Given the description of an element on the screen output the (x, y) to click on. 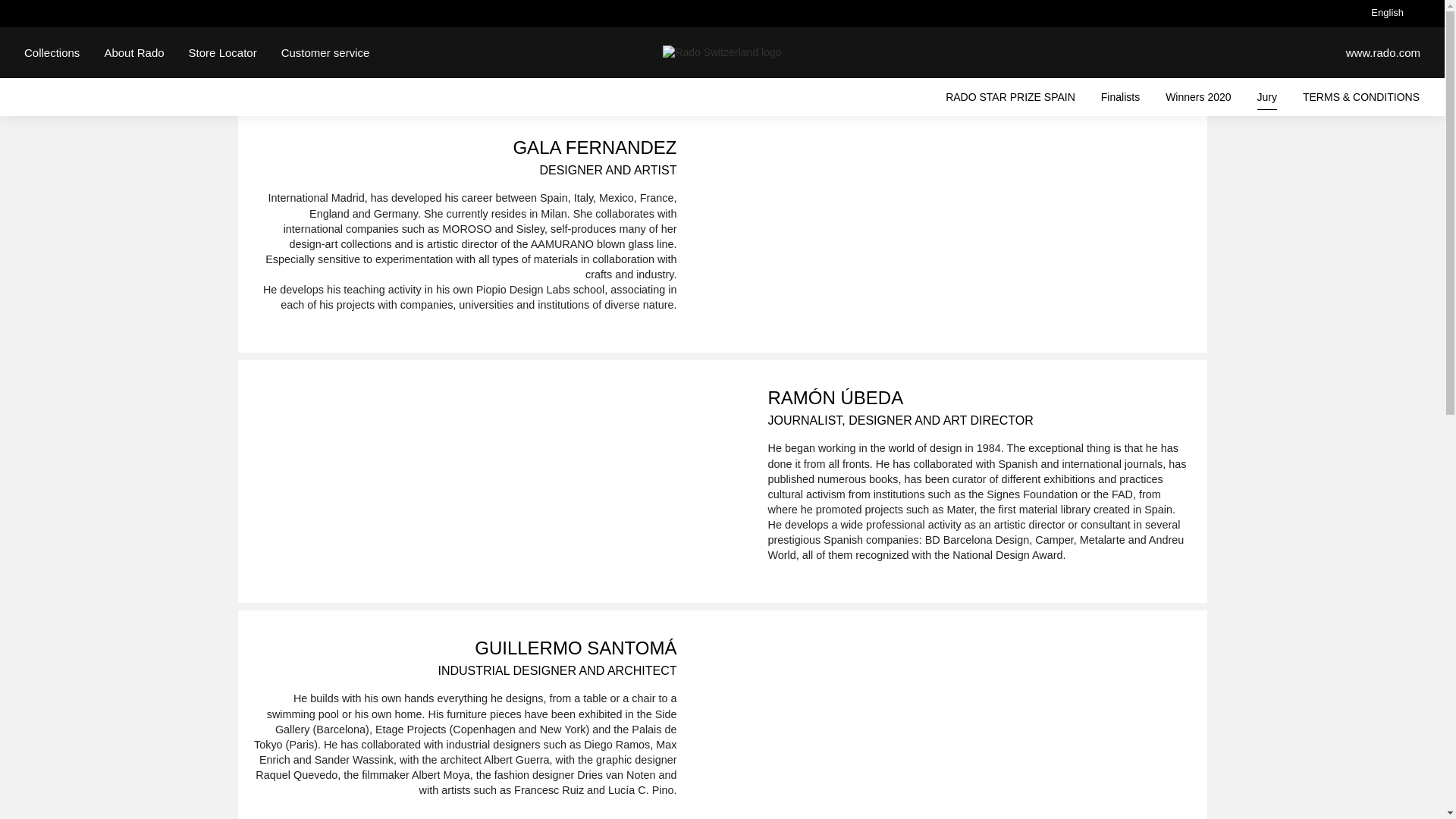
About Rado (133, 52)
Collections (52, 52)
Customer service (325, 52)
Home (721, 52)
English (1387, 15)
www.rado.com (1383, 52)
Store Locator (223, 52)
Finalists (1120, 99)
RADO STAR PRIZE SPAIN (1009, 99)
